Given the description of an element on the screen output the (x, y) to click on. 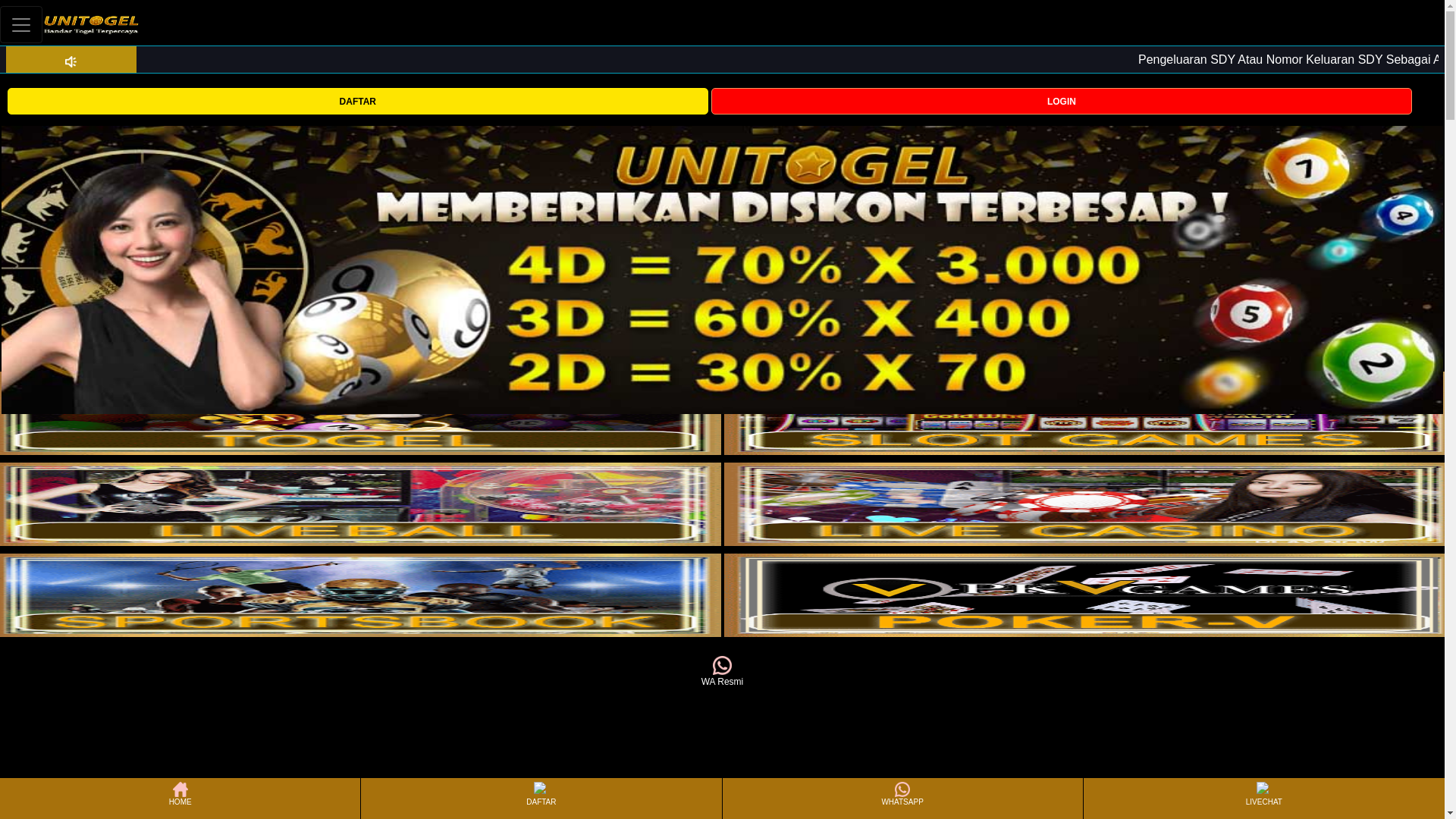
LOGIN (1061, 100)
DAFTAR (540, 798)
LIVECHAT (1263, 798)
DAFTAR (357, 100)
WHATSAPP (901, 798)
DAFTAR (357, 100)
HOME (179, 798)
LOGIN (1061, 100)
WA Resmi (722, 672)
